Given the description of an element on the screen output the (x, y) to click on. 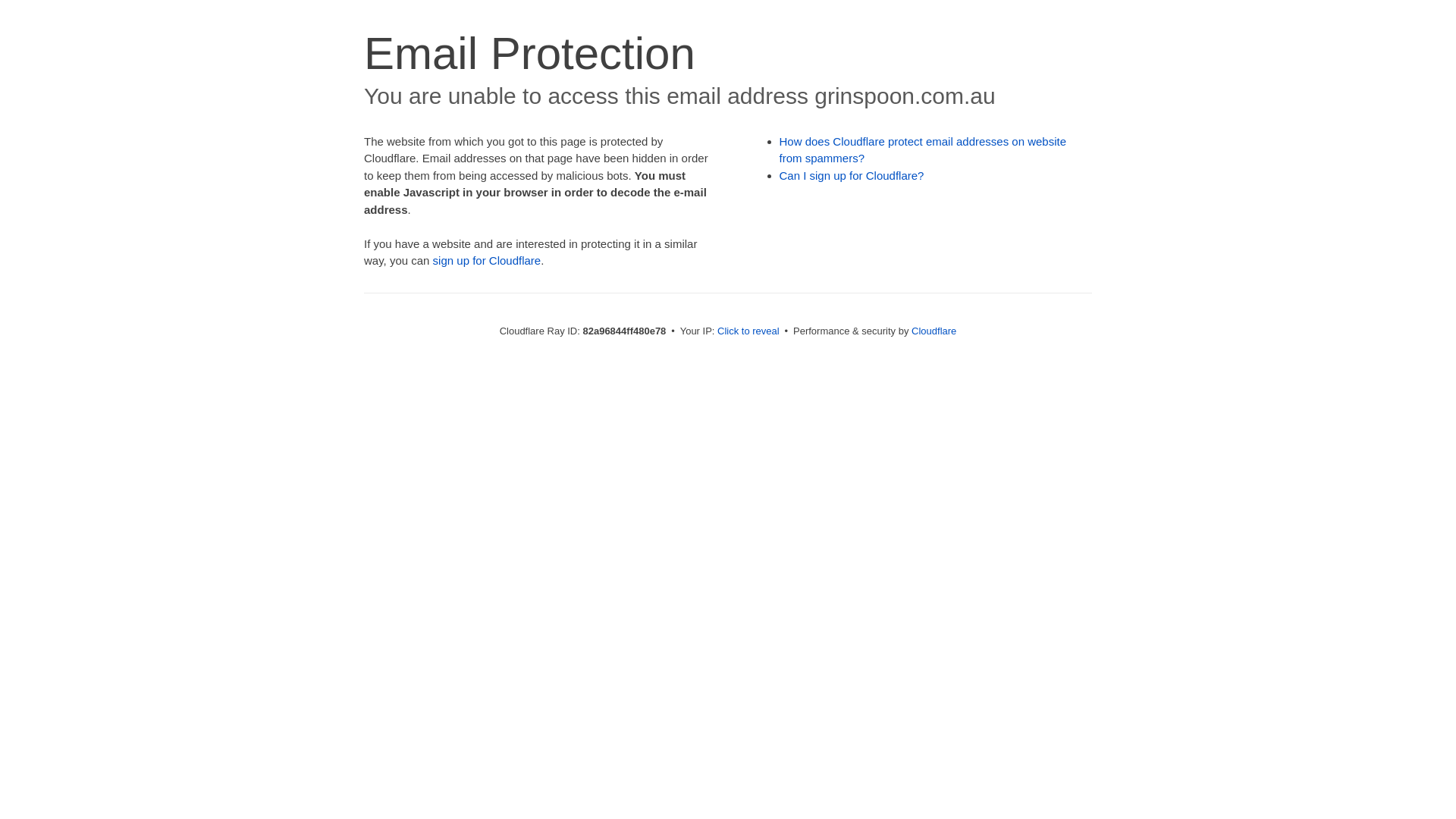
Can I sign up for Cloudflare? Element type: text (851, 175)
Cloudflare Element type: text (933, 330)
Click to reveal Element type: text (748, 330)
sign up for Cloudflare Element type: text (487, 260)
